Given the description of an element on the screen output the (x, y) to click on. 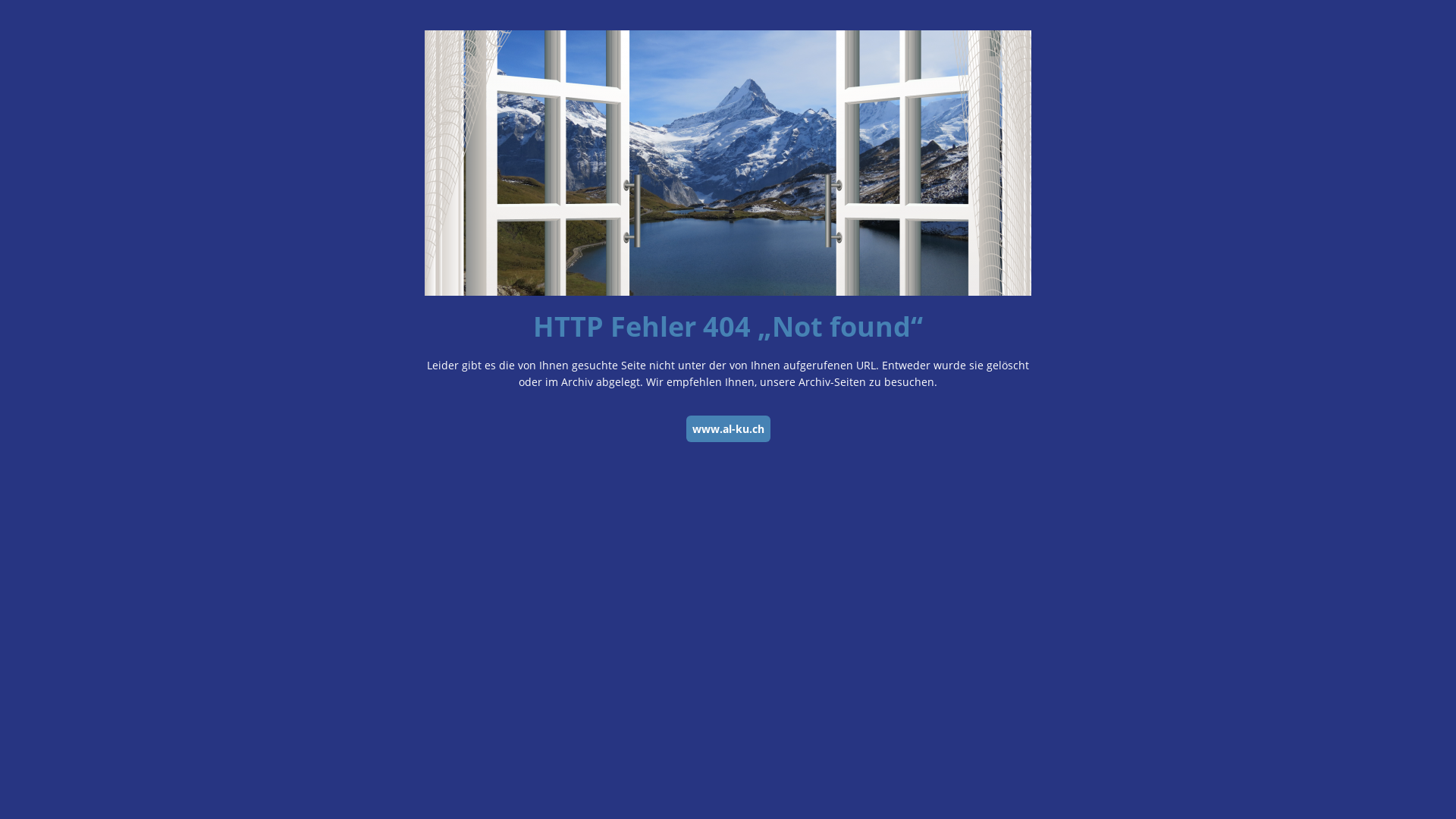
www.al-ku.ch Element type: text (727, 428)
